Given the description of an element on the screen output the (x, y) to click on. 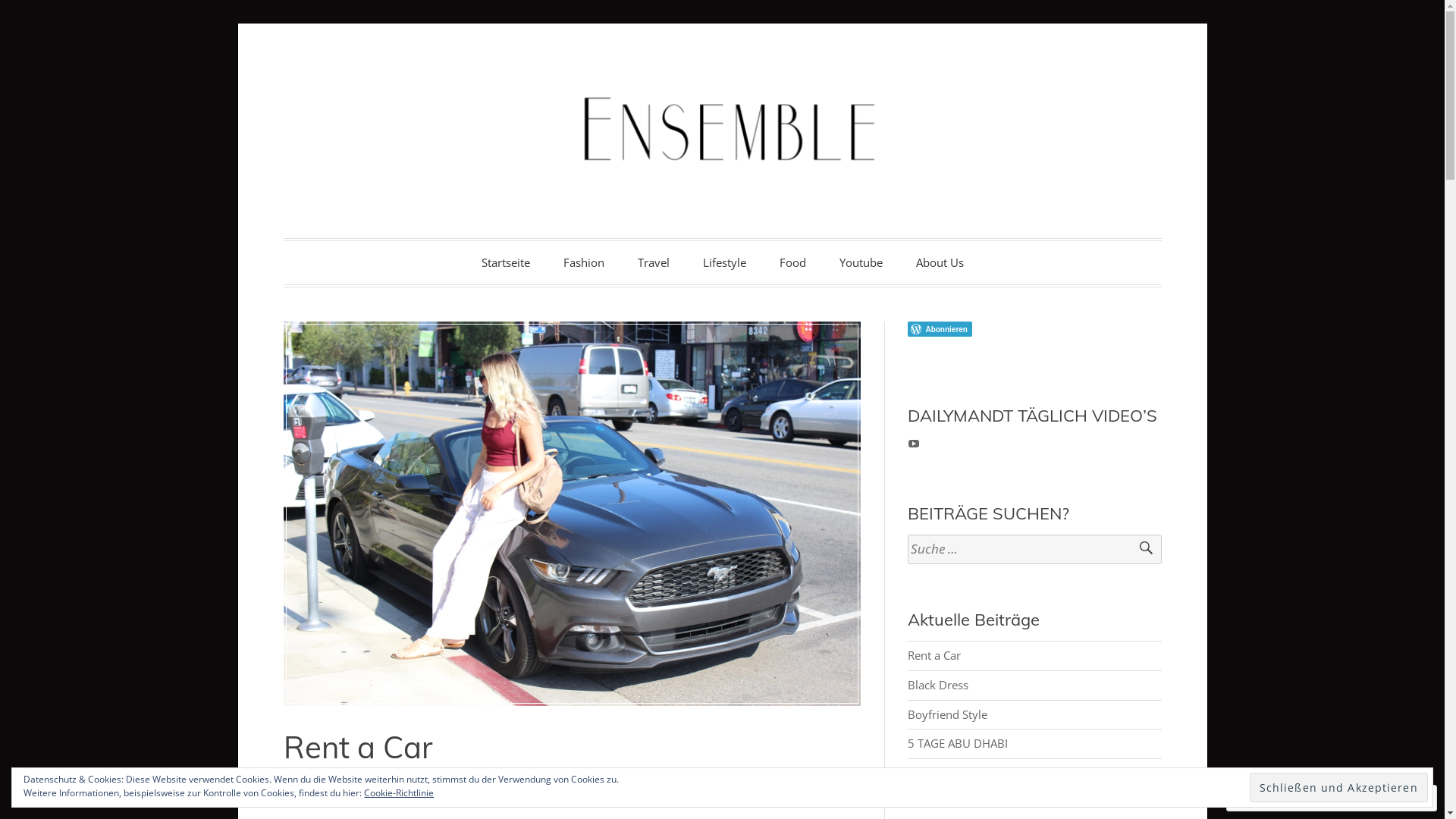
17. Juni 2016 Element type: text (405, 784)
Youtube Element type: text (860, 262)
Lifestyle Element type: text (723, 262)
Suche Element type: text (1138, 549)
Black Dress  Element type: text (939, 684)
About Us Element type: text (939, 262)
Food Element type: text (792, 262)
Folgen-Button Element type: hover (1034, 328)
Beautiful Place Element type: text (946, 772)
Boyfriend Style Element type: text (947, 713)
Cookie-Richtlinie Element type: text (398, 792)
Startseite Element type: text (504, 262)
Fashion Element type: text (582, 262)
Travel Element type: text (652, 262)
Abonnieren Element type: text (1362, 797)
5 TAGE ABU DHABI Element type: text (957, 742)
Kommentar Element type: text (1271, 797)
Rent a Car Element type: text (933, 654)
